Given the description of an element on the screen output the (x, y) to click on. 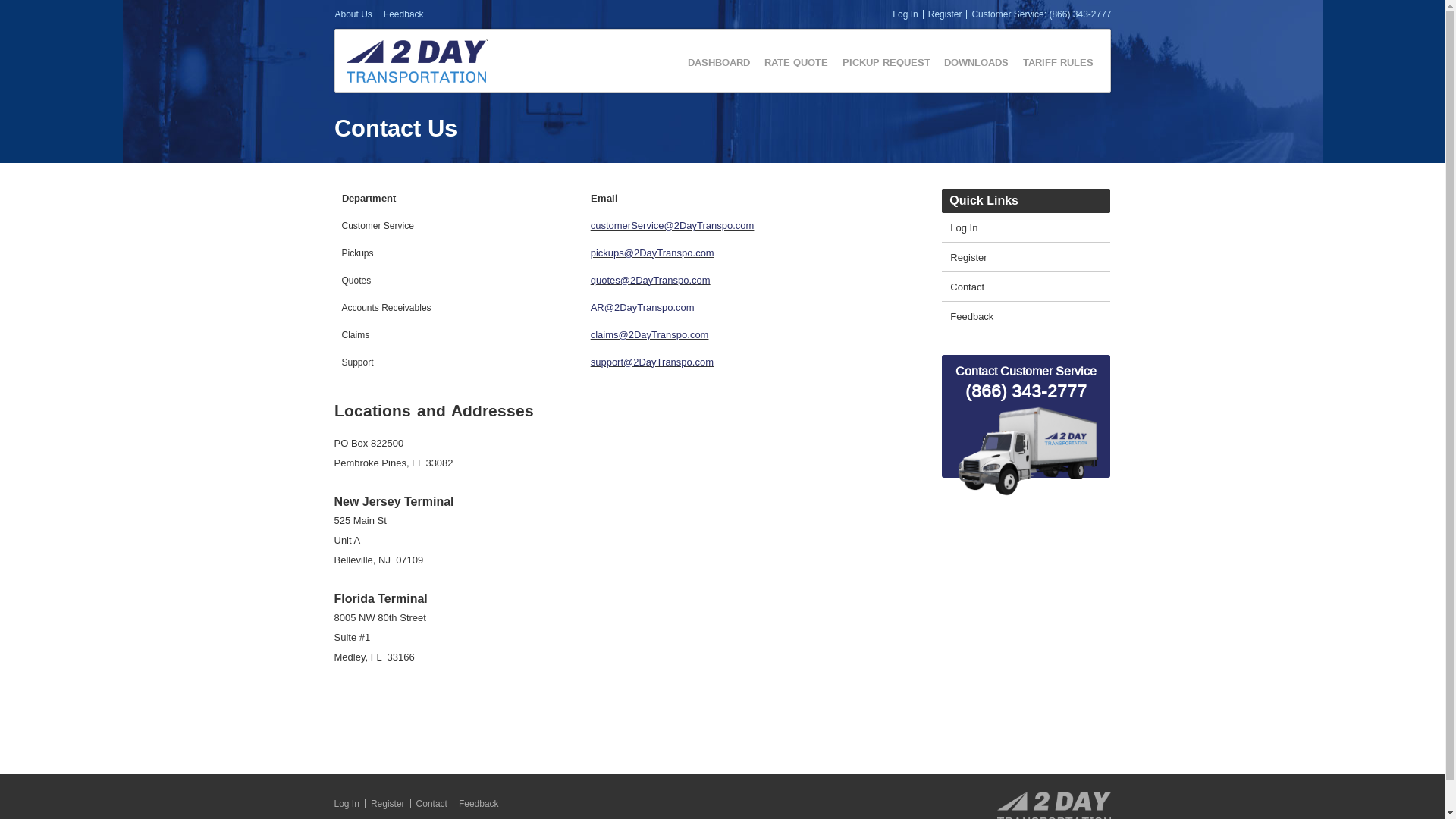
DASHBOARD Element type: text (712, 62)
Register Element type: text (944, 14)
Feedback Element type: text (1030, 316)
AR@2DayTranspo.com Element type: text (642, 307)
Log In Element type: text (905, 14)
Contact Element type: text (431, 803)
Feedback Element type: text (478, 803)
PICKUP REQUEST Element type: text (880, 62)
DOWNLOADS Element type: text (969, 62)
Contact Element type: text (1030, 286)
Register Element type: text (387, 803)
pickups@2DayTranspo.com Element type: text (652, 252)
Feedback Element type: text (403, 14)
Customer Service: (866) 343-2777 Element type: text (1040, 14)
quotes@2DayTranspo.com Element type: text (650, 279)
customerService@2DayTranspo.com Element type: text (672, 225)
support@2DayTranspo.com Element type: text (651, 361)
About Us Element type: text (352, 14)
claims@2DayTranspo.com Element type: text (649, 334)
(866) 343-2777 Element type: text (1025, 391)
Log In Element type: text (1030, 227)
Register Element type: text (1030, 257)
TARIFF RULES Element type: text (1051, 62)
Log In Element type: text (345, 803)
RATE QUOTE Element type: text (790, 62)
